Given the description of an element on the screen output the (x, y) to click on. 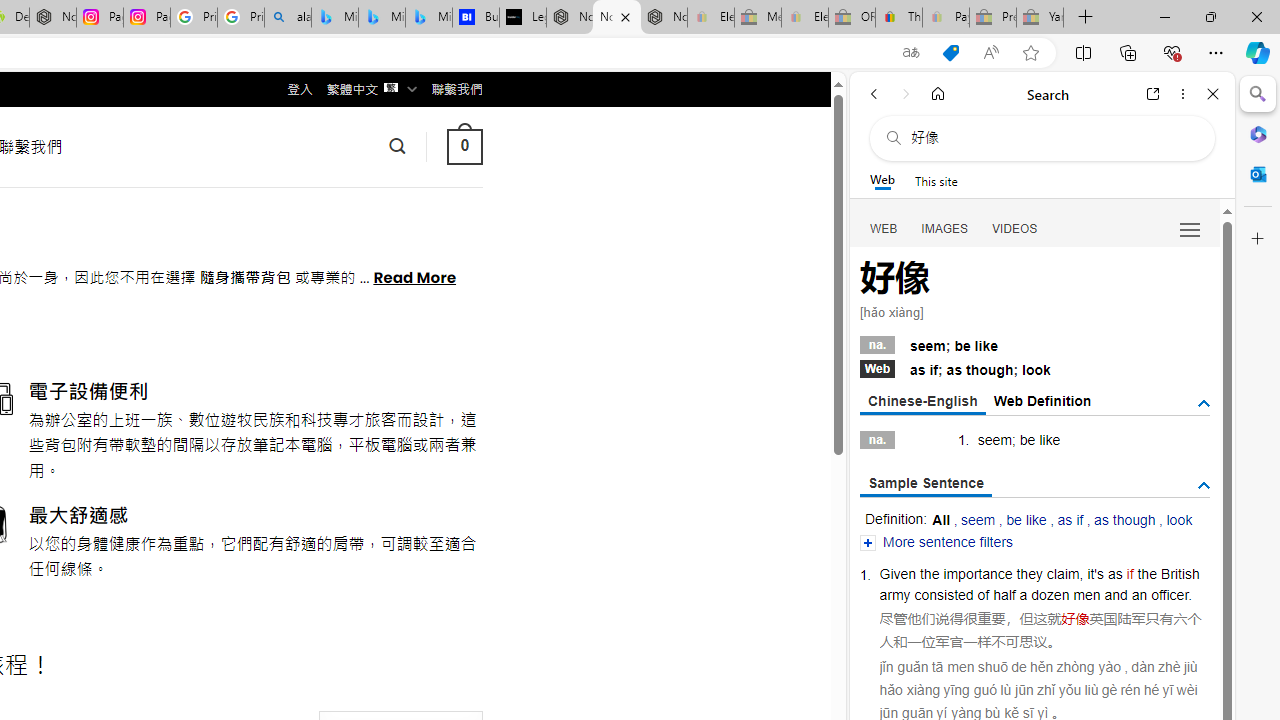
na.seem; be like (1034, 343)
 0  (464, 146)
Class: b_serphb (1190, 229)
and (1115, 594)
if (1130, 573)
